Given the description of an element on the screen output the (x, y) to click on. 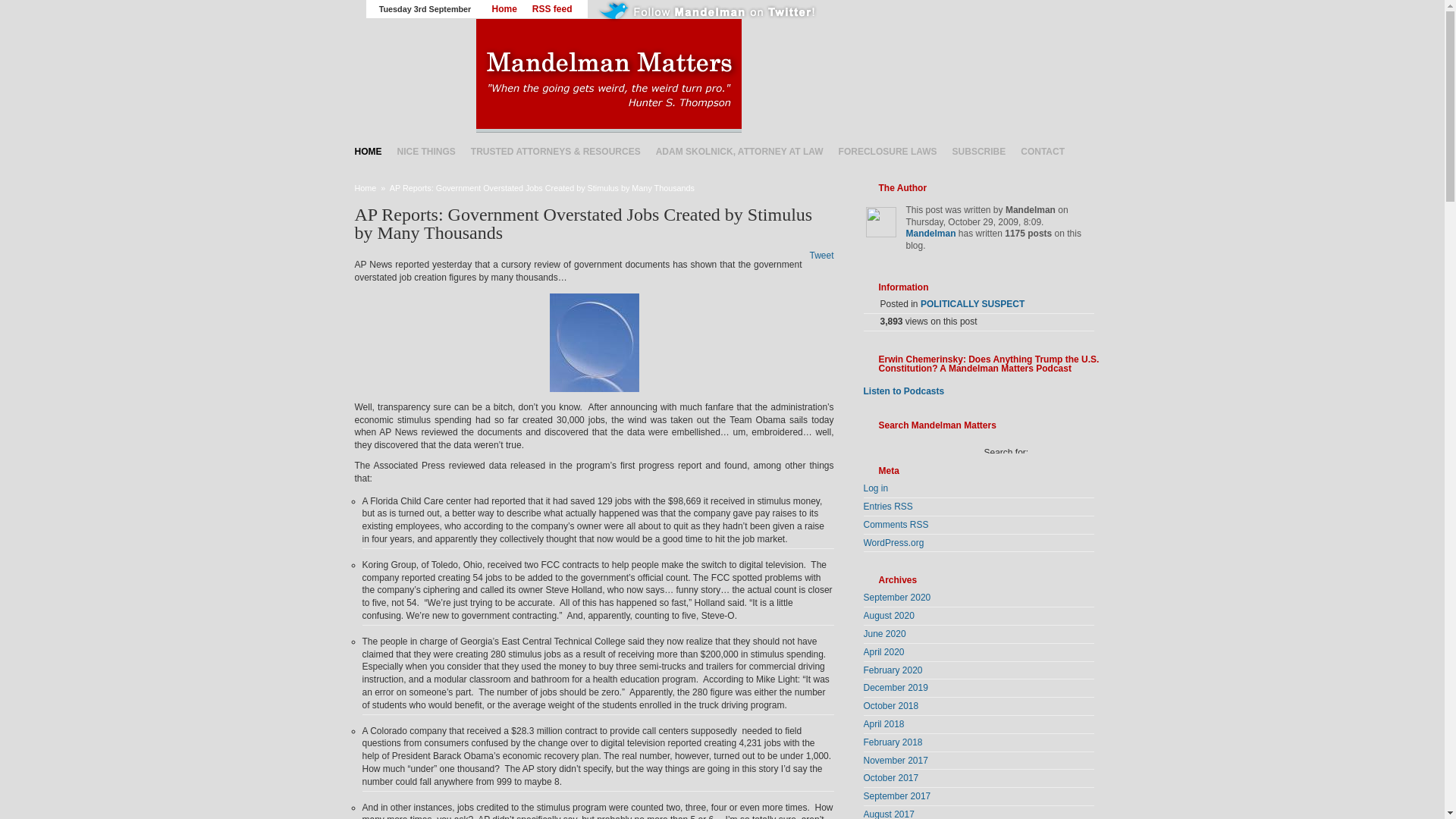
HOME (368, 151)
images (593, 342)
FORECLOSURE LAWS (887, 151)
HOME (368, 151)
CONTACT (1042, 151)
Really Simple Syndication (919, 524)
Home (366, 187)
ADAM SKOLNICK, ATTORNEY AT LAW (739, 151)
SUBSCRIBE (978, 151)
